Given the description of an element on the screen output the (x, y) to click on. 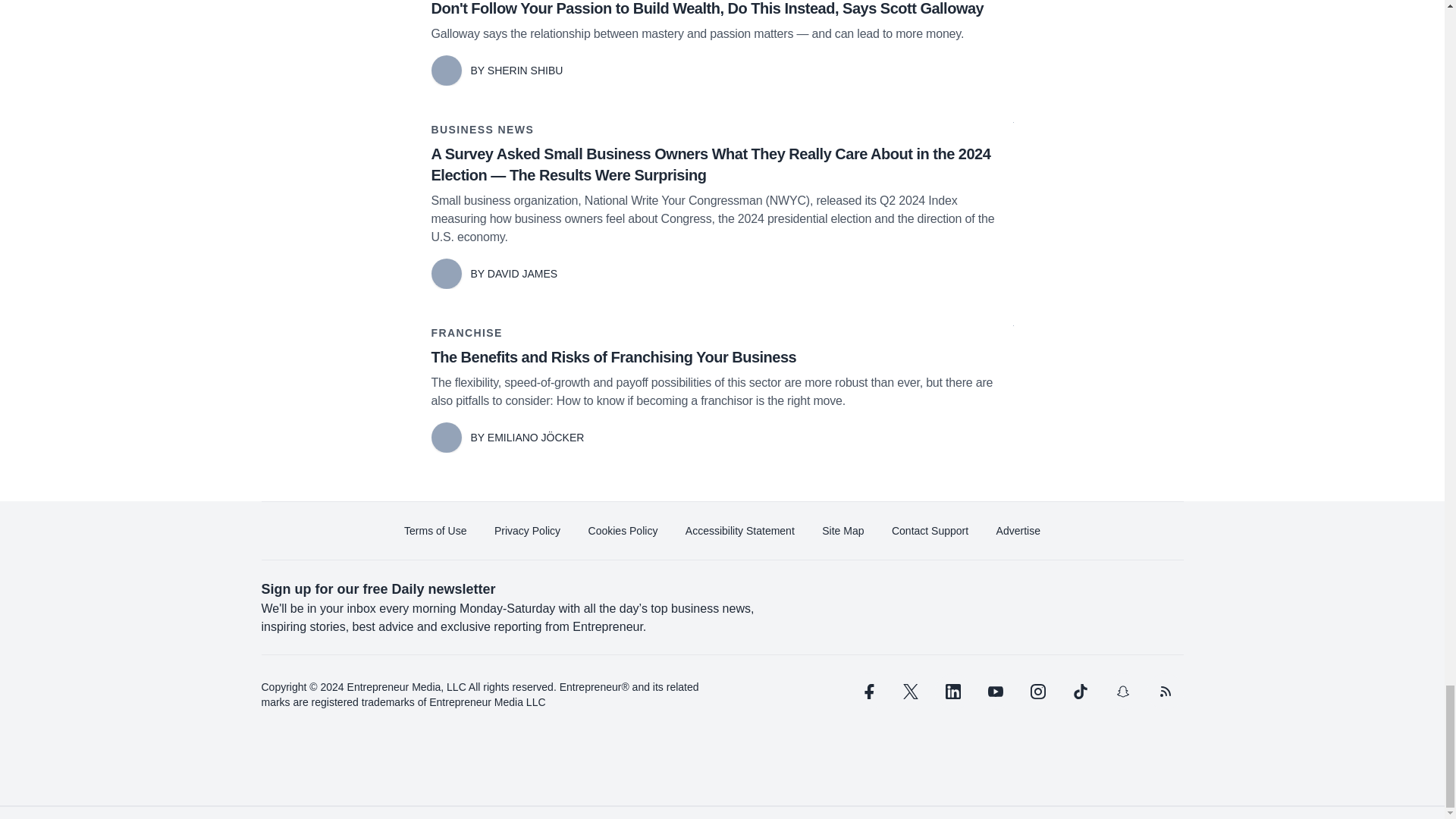
linkedin (952, 691)
facebook (866, 691)
youtube (994, 691)
tiktok (1079, 691)
instagram (1037, 691)
snapchat (1121, 691)
twitter (909, 691)
